Given the description of an element on the screen output the (x, y) to click on. 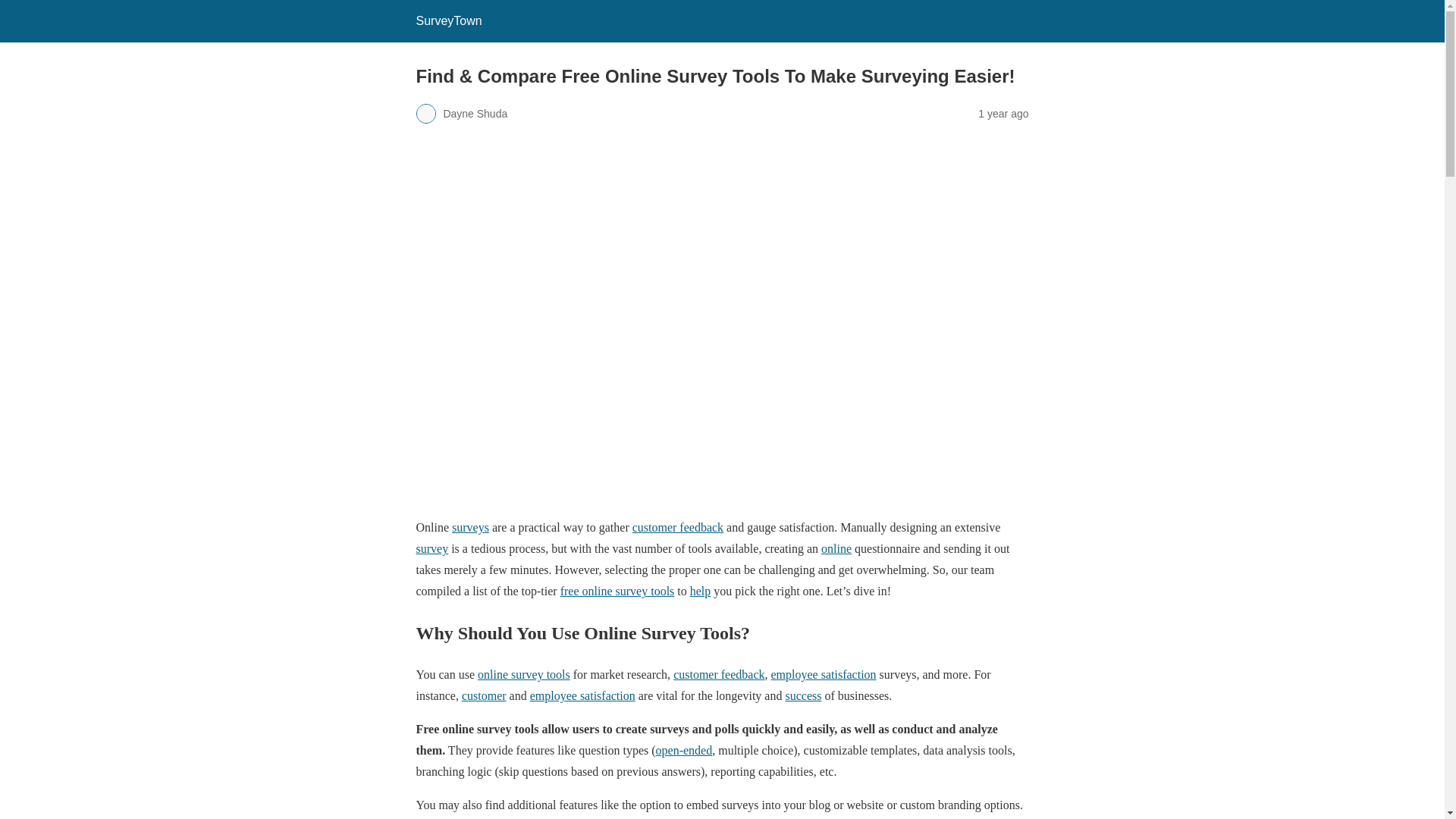
help (700, 590)
free online survey tools (617, 590)
Tag - Employee Satisfaction (823, 674)
online survey tools (523, 674)
survey (431, 548)
success (802, 695)
Success (802, 695)
Tag - Free Online Survey Tools (617, 590)
Tag - Customer Feedback (677, 526)
